Given the description of an element on the screen output the (x, y) to click on. 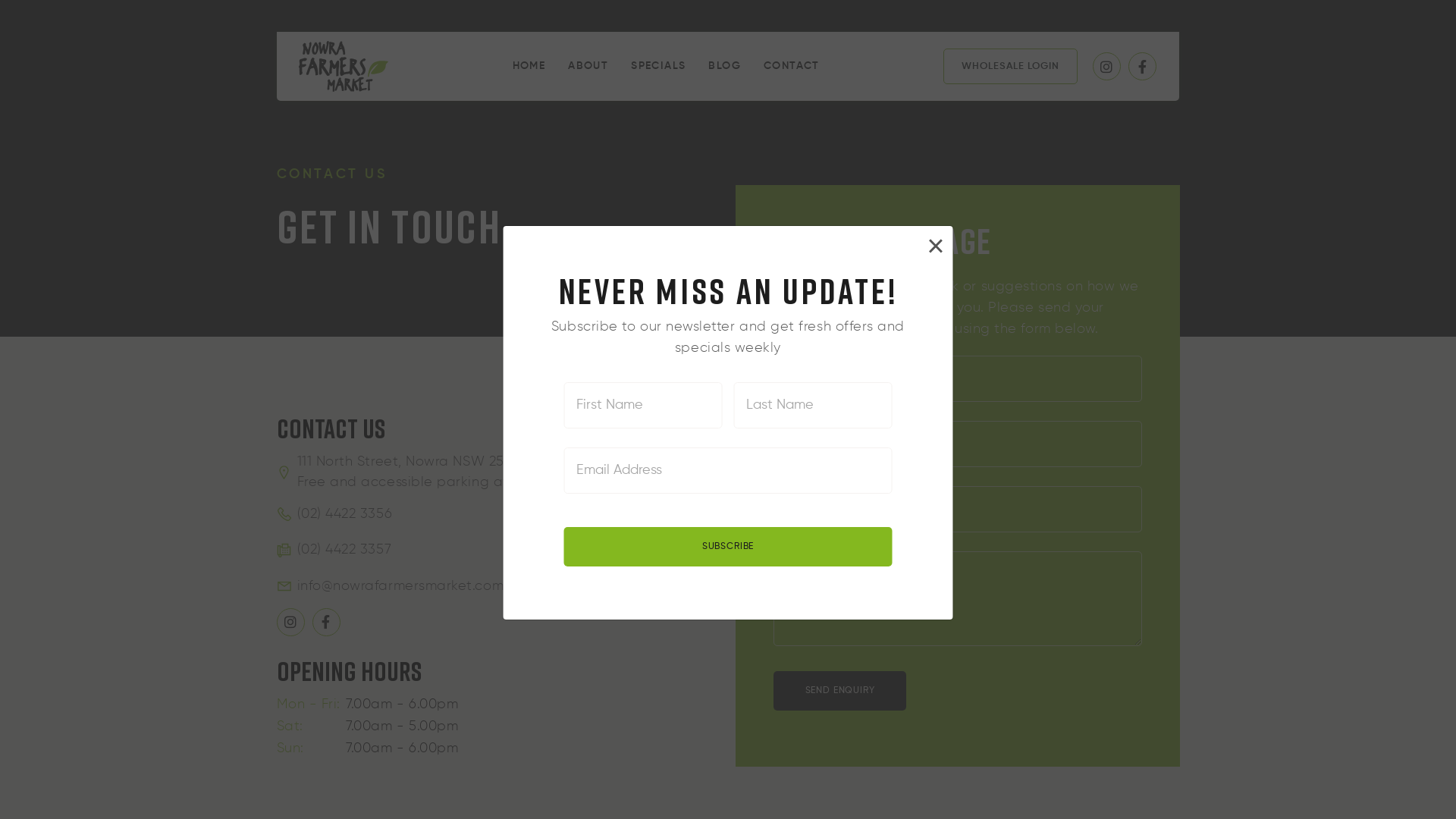
CONTACT Element type: text (791, 66)
info@nowrafarmersmarket.com.au Element type: text (498, 586)
WHOLESALE LOGIN Element type: text (1011, 66)
SEND ENQUIRY Element type: text (839, 691)
SPECIALS Element type: text (658, 66)
BLOG Element type: text (725, 66)
HOME Element type: text (528, 66)
(02) 4422 3357 Element type: text (333, 549)
(02) 4422 3356 Element type: text (334, 514)
Skip to content Element type: text (276, 31)
ABOUT Element type: text (588, 66)
Subscribe Element type: text (728, 547)
